Given the description of an element on the screen output the (x, y) to click on. 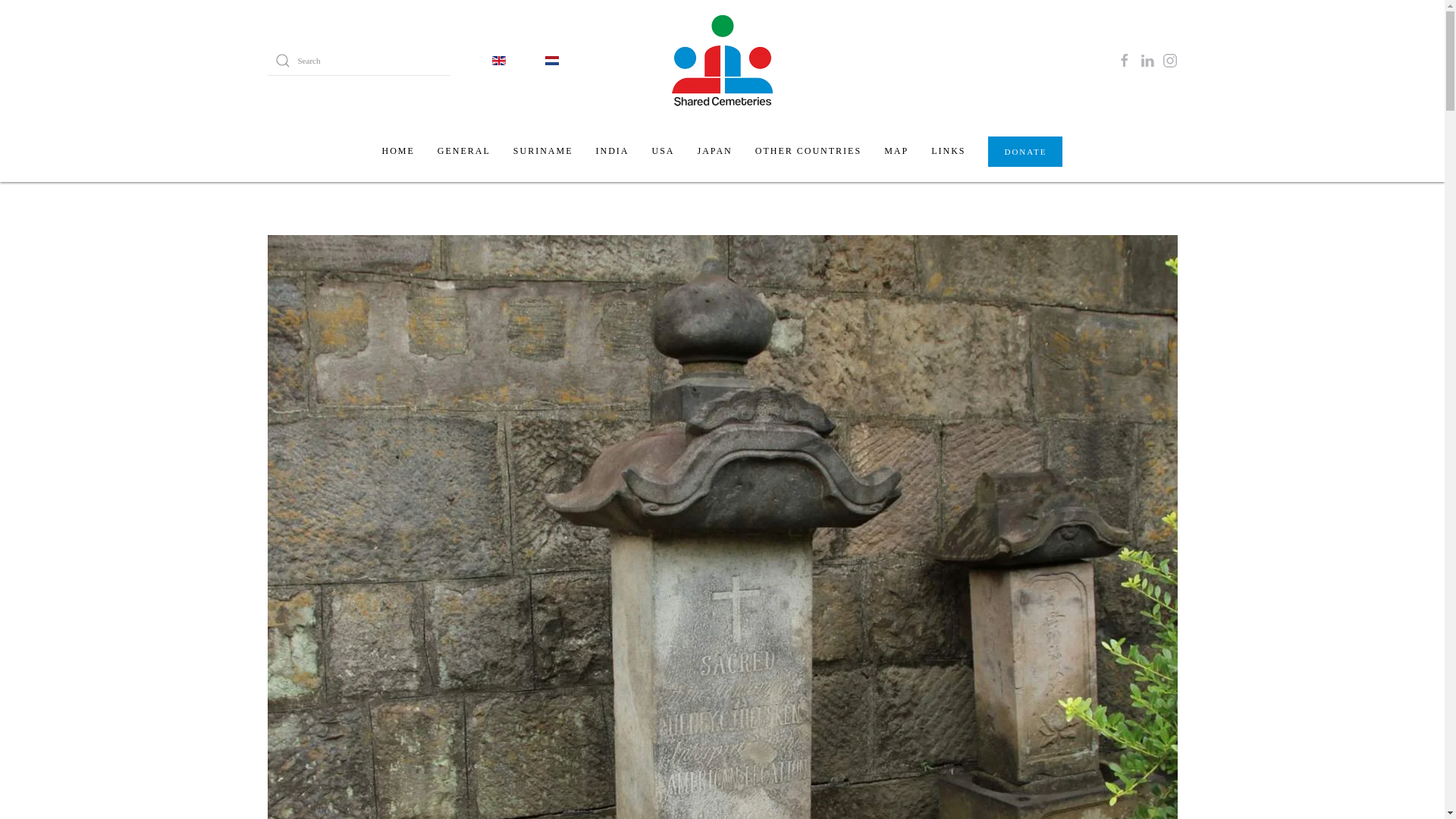
Nl (550, 60)
En (498, 60)
SURINAME (543, 151)
